Given the description of an element on the screen output the (x, y) to click on. 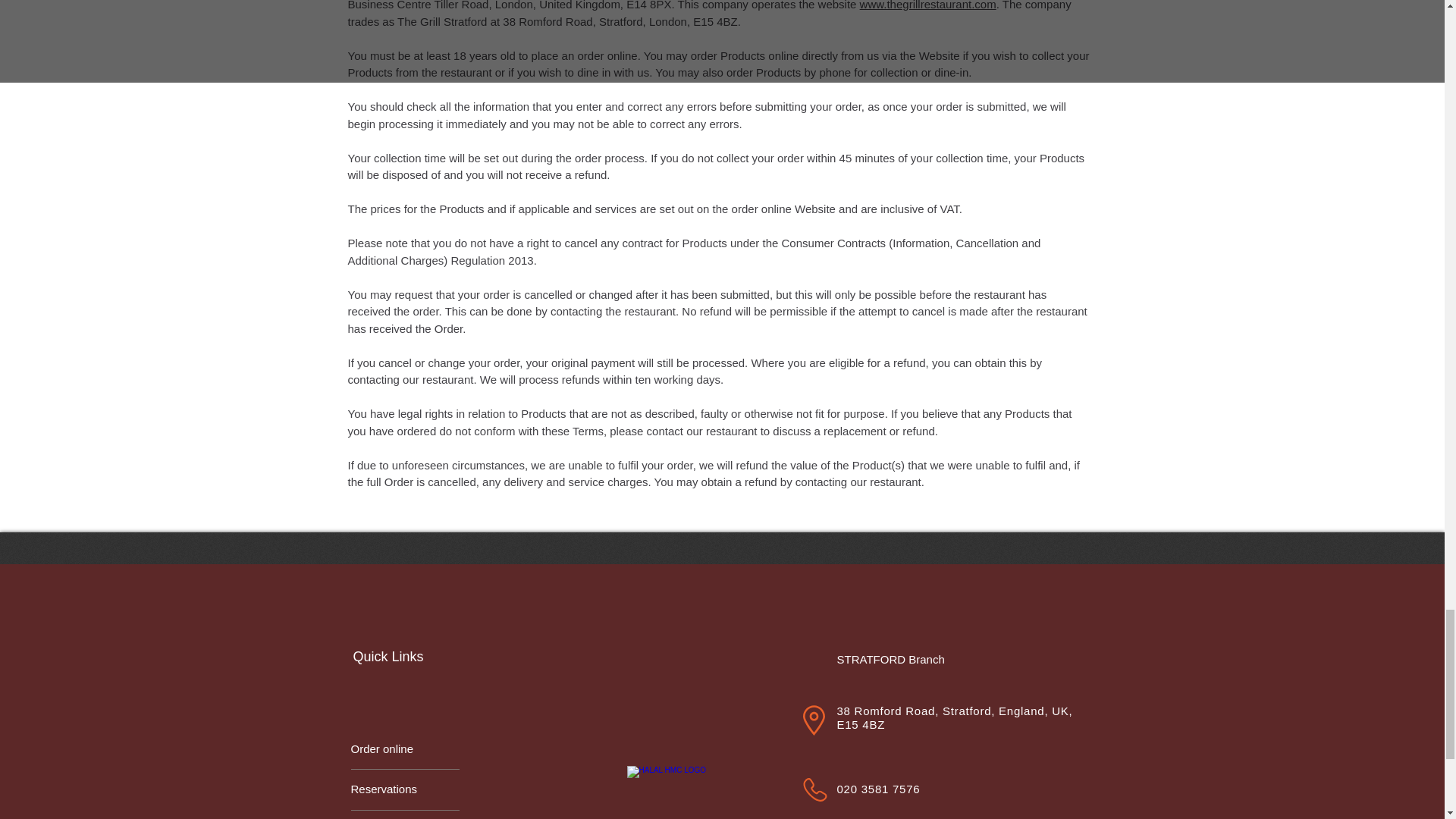
Menu (404, 817)
HALAL HMC LOGO (671, 792)
020 3581 7576 (878, 788)
Order online (404, 748)
38 Romford Road, Stratford, England, UK, E15 4BZ (955, 716)
Reservations (404, 788)
www.thegrillrestaurant.com (927, 5)
STRATFORD Branch (897, 658)
